Given the description of an element on the screen output the (x, y) to click on. 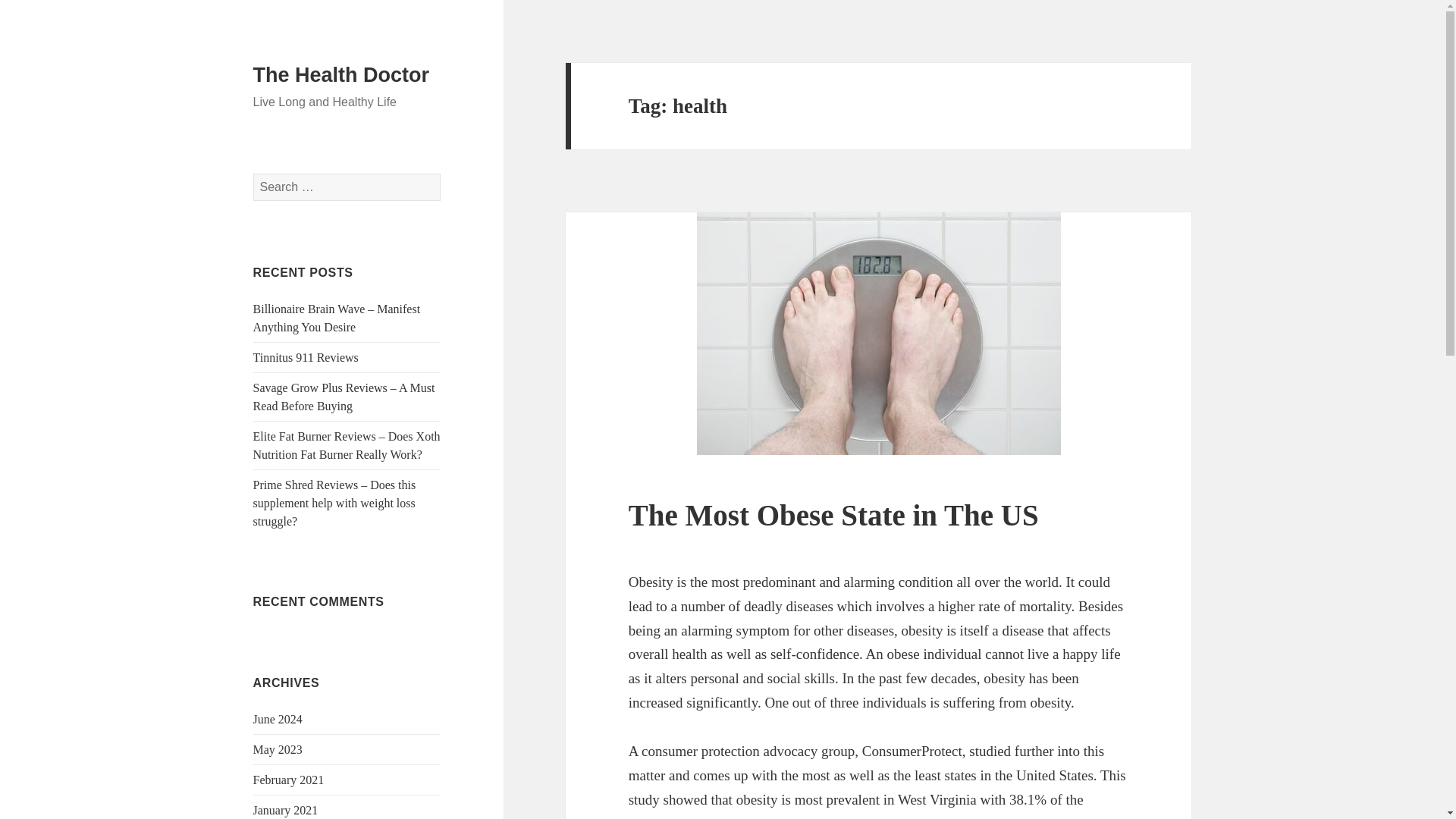
May 2023 (277, 748)
The Health Doctor (341, 74)
June 2024 (277, 718)
The Most Obese State in The US (833, 514)
Tinnitus 911 Reviews (305, 357)
February 2021 (288, 779)
January 2021 (285, 809)
